Given the description of an element on the screen output the (x, y) to click on. 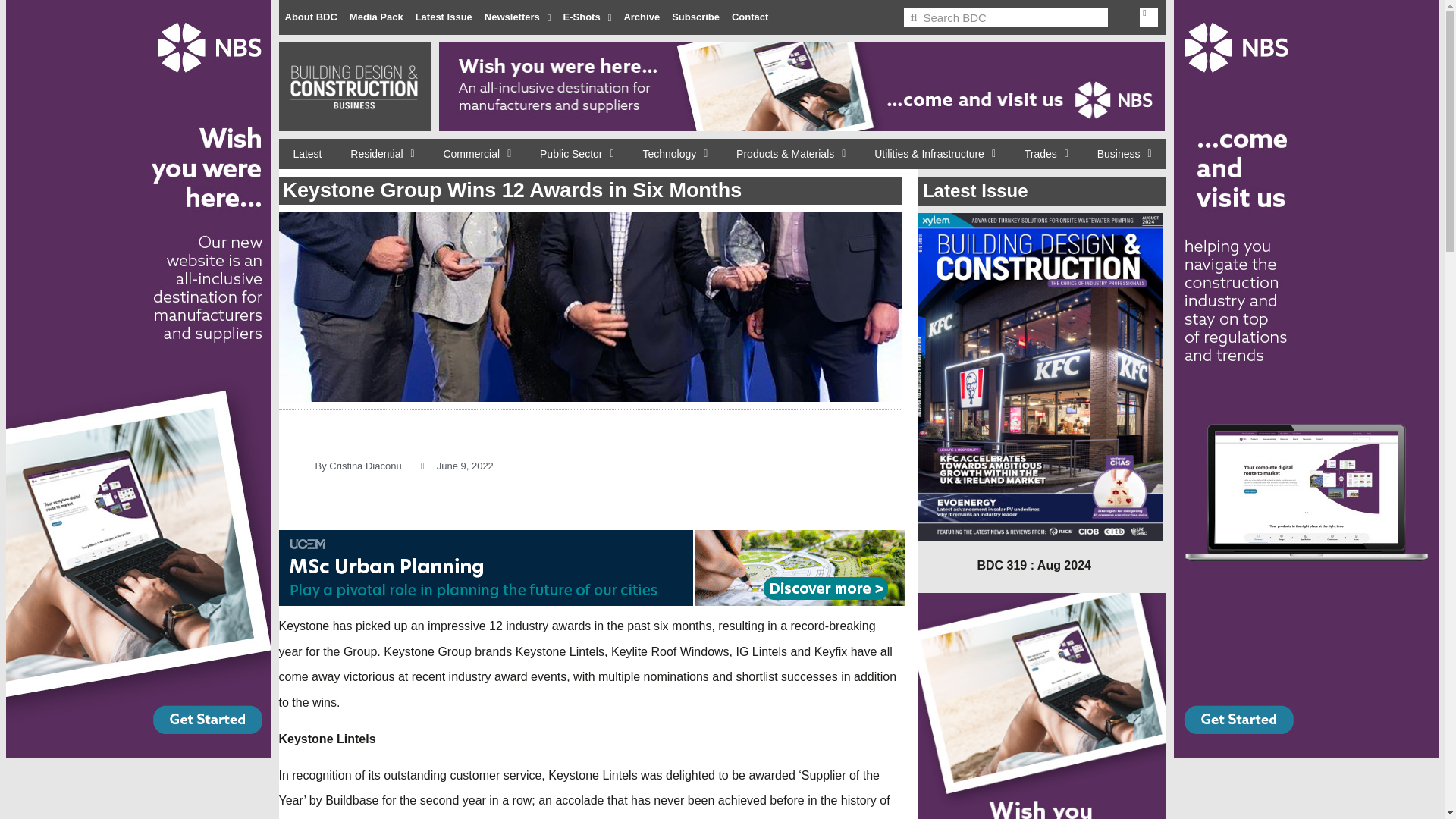
Contact (749, 17)
Residential (382, 153)
Newsletters (518, 17)
E-Shots (587, 17)
Latest Issue (444, 17)
Media Pack (376, 17)
Archive (641, 17)
Keystone Group Wins 12 Awards in Six Months (590, 307)
About BDC (311, 17)
Latest (307, 153)
Subscribe (695, 17)
